Given the description of an element on the screen output the (x, y) to click on. 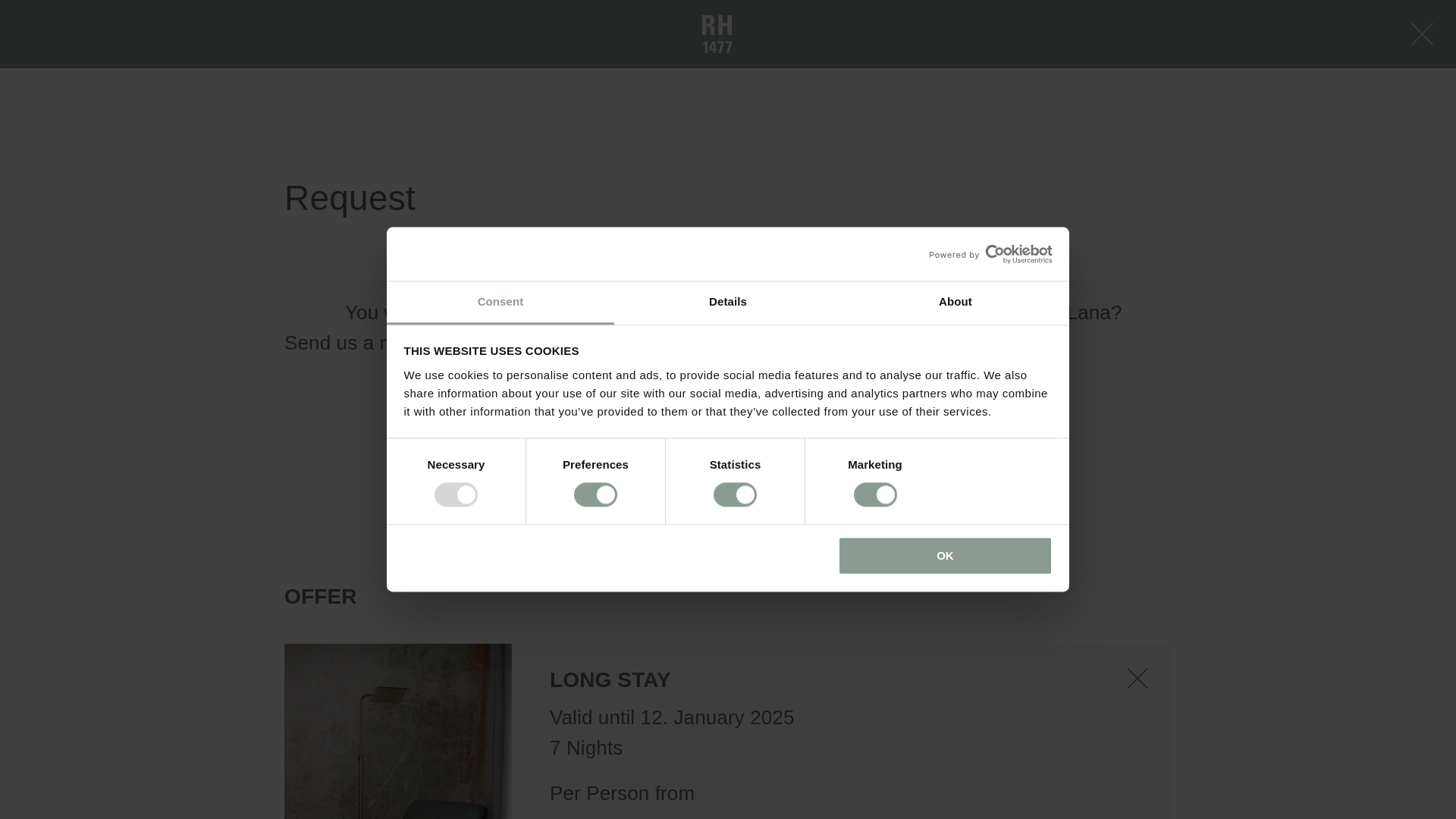
Details (727, 302)
Consent (500, 302)
About (954, 302)
OK (944, 555)
